Given the description of an element on the screen output the (x, y) to click on. 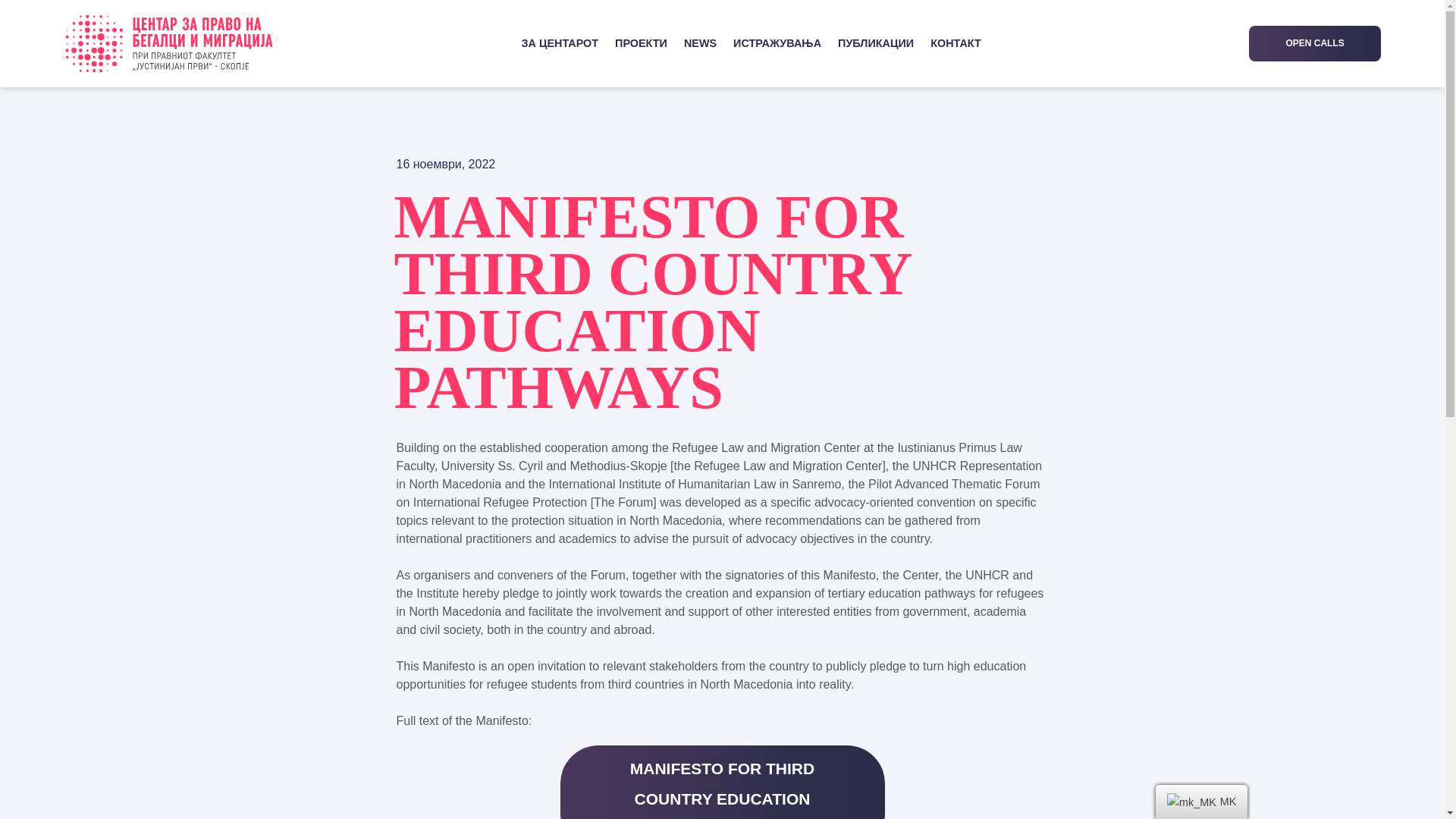
Macedonian (1191, 802)
NEWS (700, 43)
MANIFESTO FOR THIRD COUNTRY EDUCATION PATHWAYS (721, 782)
OPEN CALLS (1314, 43)
